Given the description of an element on the screen output the (x, y) to click on. 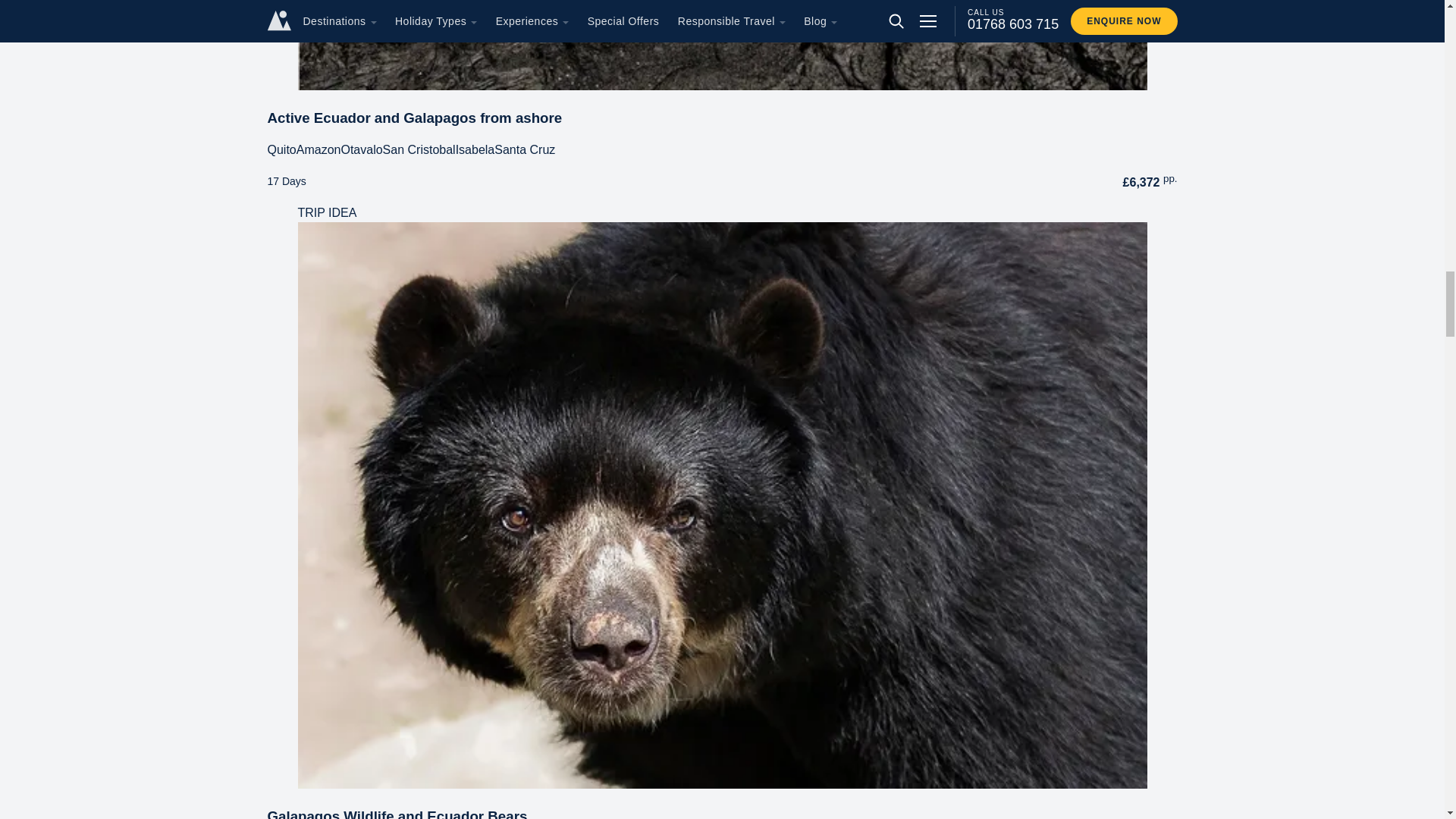
Tourist photographing marine iguana in the Galapagos Ecuador (722, 45)
